Given the description of an element on the screen output the (x, y) to click on. 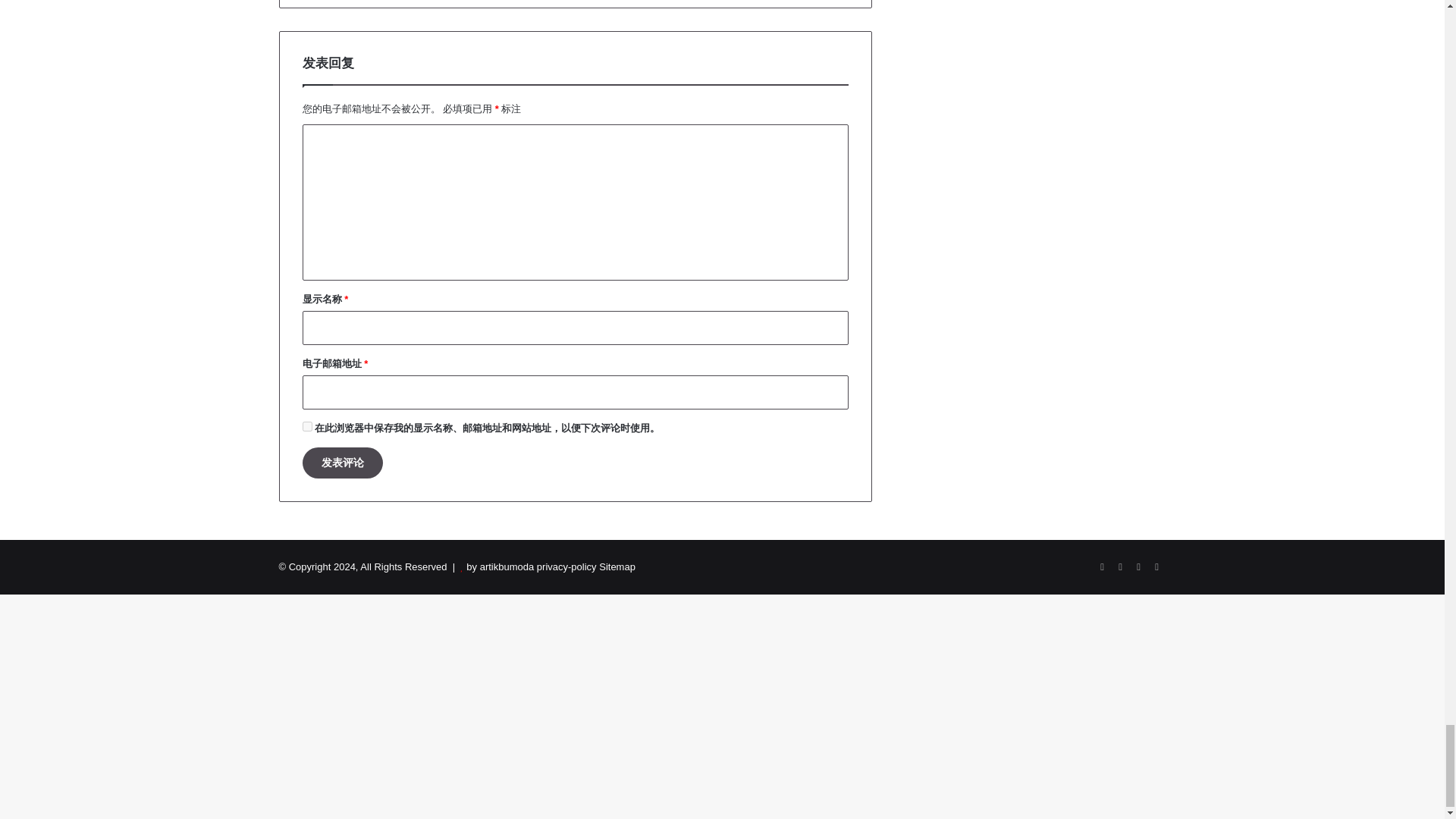
yes (306, 426)
